Given the description of an element on the screen output the (x, y) to click on. 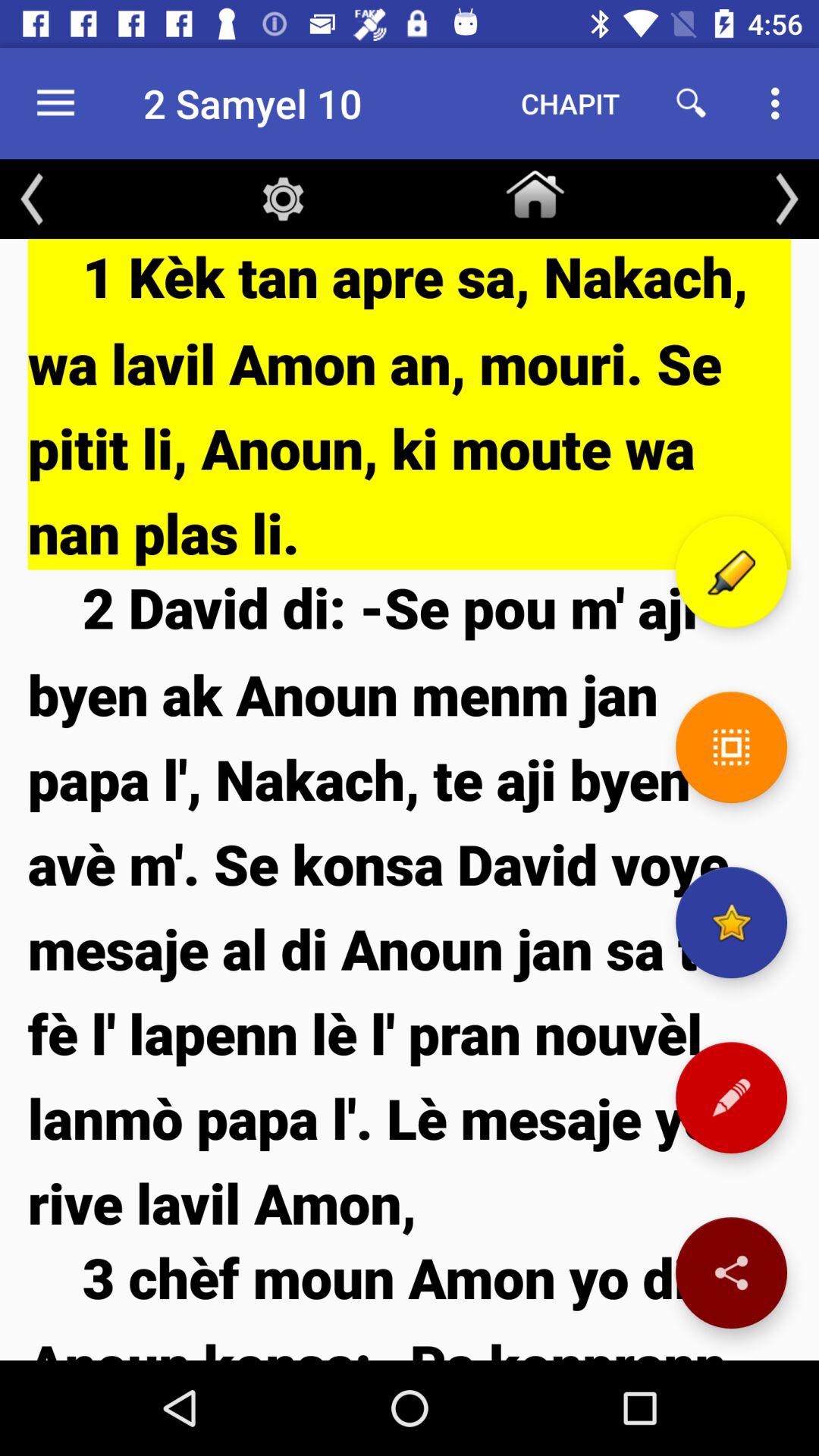
launch item to the right of the 2 samyel 10 (570, 103)
